Given the description of an element on the screen output the (x, y) to click on. 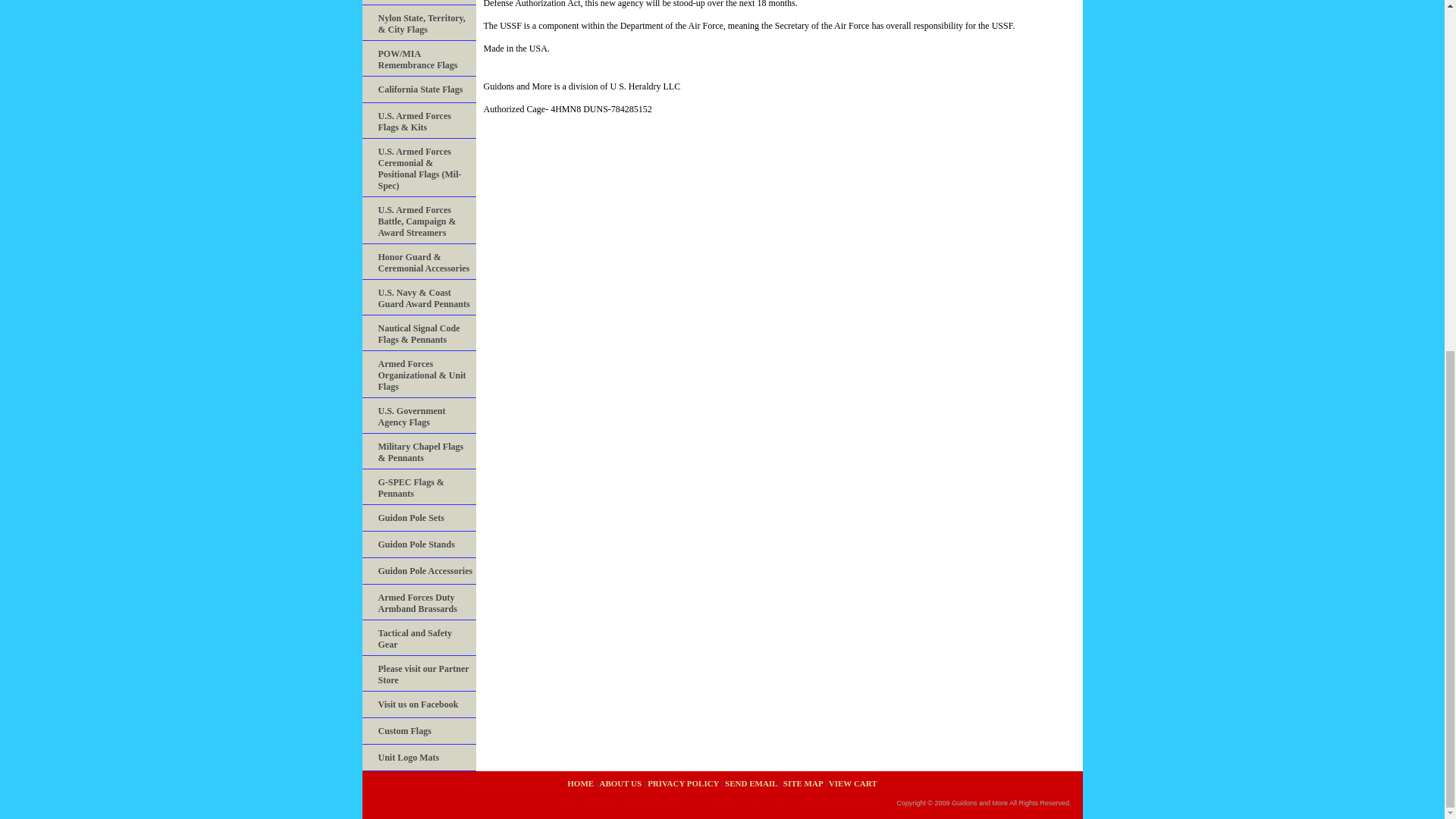
Guidon Pole Accessories (419, 570)
Tactical and Safety Gear (419, 637)
Custom Flags (419, 731)
Visit us on Facebook (419, 704)
California State Flags (419, 89)
California State Flags (419, 89)
Please visit our Partner Store (419, 673)
Guidon Pole Sets (419, 518)
Guidon Pole Stands (419, 544)
Armed Forces Duty Armband Brassards (419, 601)
U.S. Government Agency Flags (419, 416)
